Given the description of an element on the screen output the (x, y) to click on. 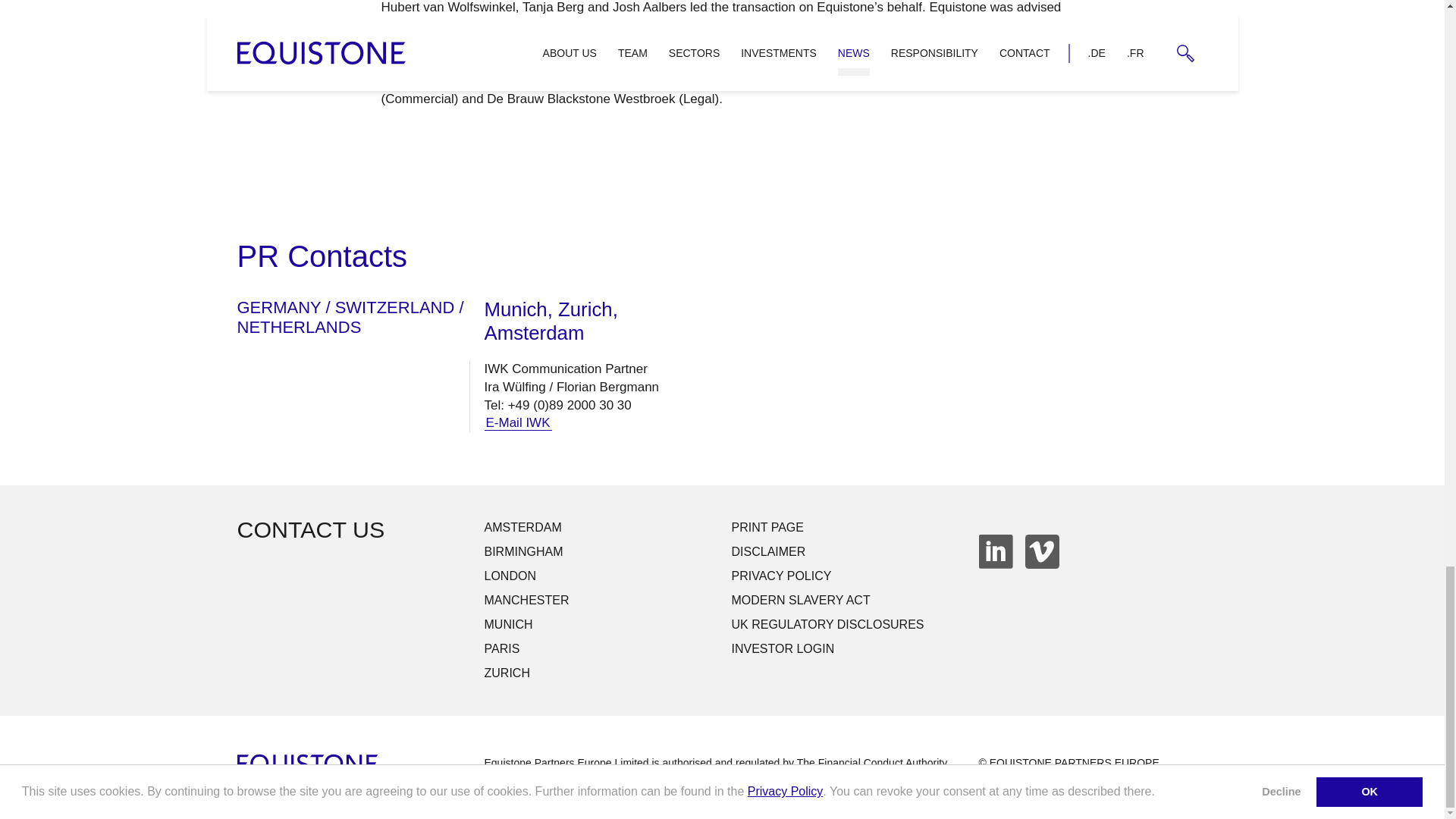
E-Mail IWK (517, 422)
